Given the description of an element on the screen output the (x, y) to click on. 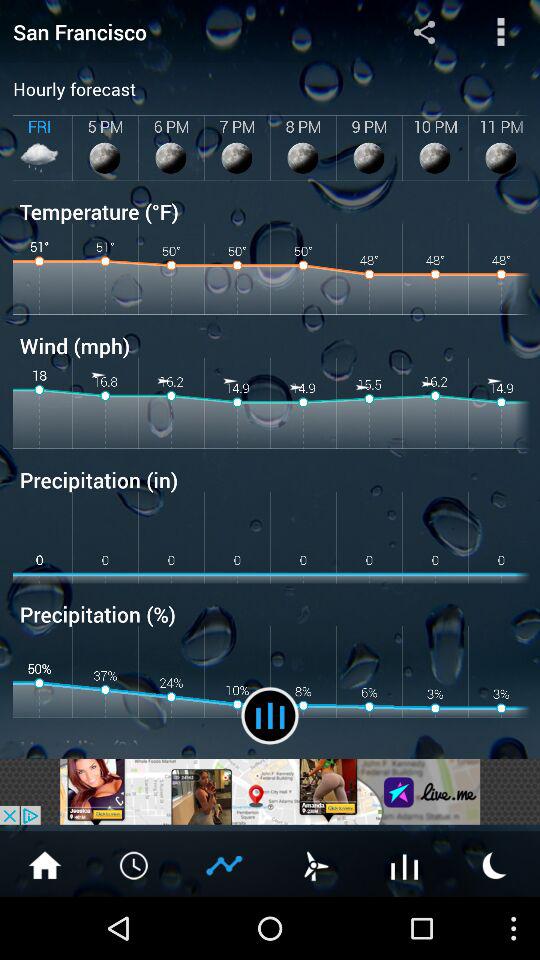
click item next to san francisco item (424, 31)
